Given the description of an element on the screen output the (x, y) to click on. 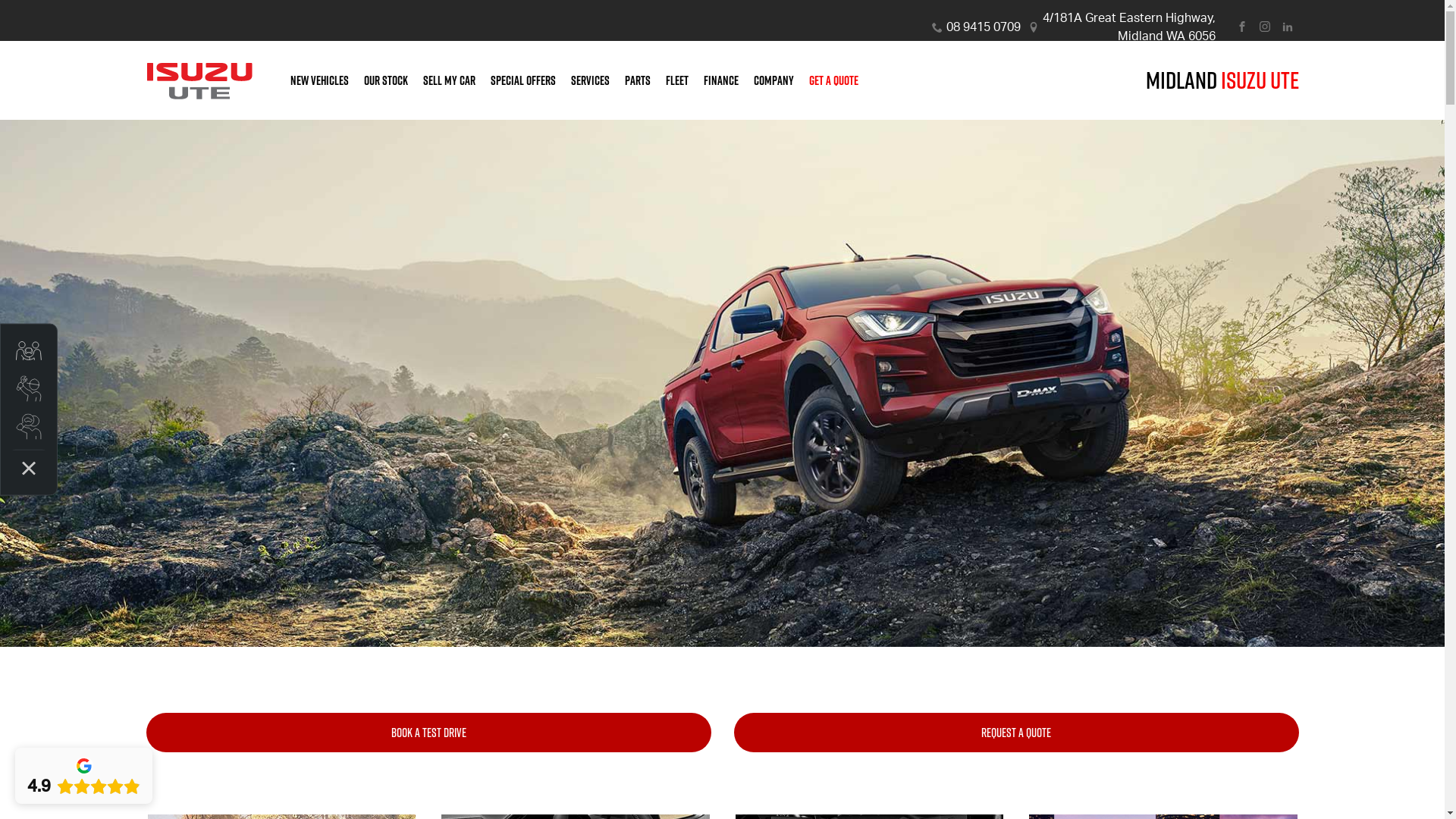
SELL MY CAR Element type: text (449, 79)
FINANCE Element type: text (721, 79)
SPECIAL OFFERS Element type: text (522, 79)
COMPANY Element type: text (773, 79)
REQUEST A QUOTE Element type: text (1016, 732)
SERVICES Element type: text (589, 79)
08 9415 0709 Element type: text (983, 27)
PARTS Element type: text (637, 79)
GET A QUOTE Element type: text (828, 79)
OUR STOCK Element type: text (385, 79)
4/181A Great Eastern Highway,
Midland WA 6056 Element type: text (1127, 27)
BOOK A TEST DRIVE Element type: text (427, 732)
FLEET Element type: text (677, 79)
NEW VEHICLES Element type: text (318, 79)
